Given the description of an element on the screen output the (x, y) to click on. 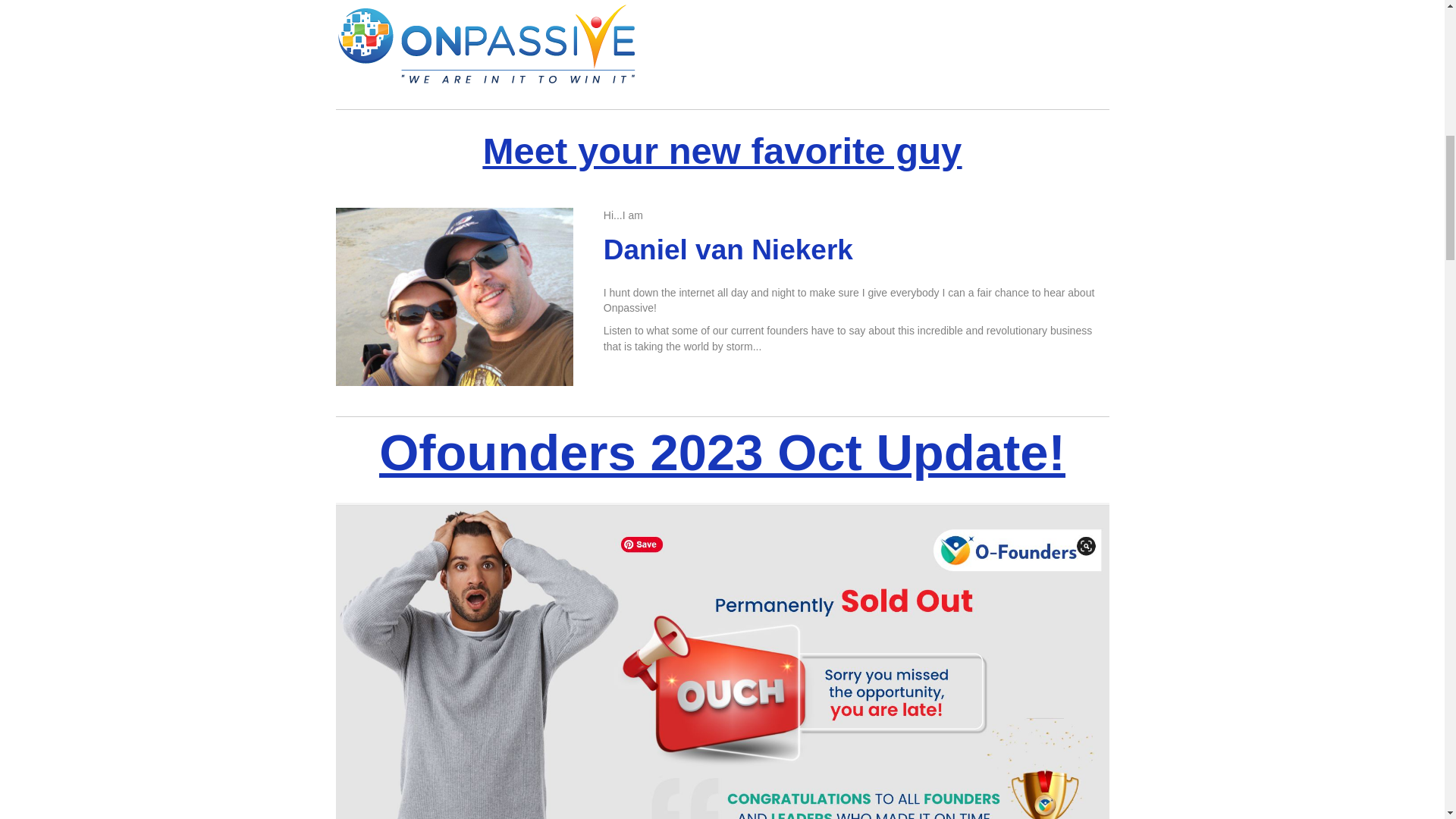
PC (453, 39)
Ofounders 2023 Oct Update! (721, 452)
On the beach Huahin (453, 296)
